Given the description of an element on the screen output the (x, y) to click on. 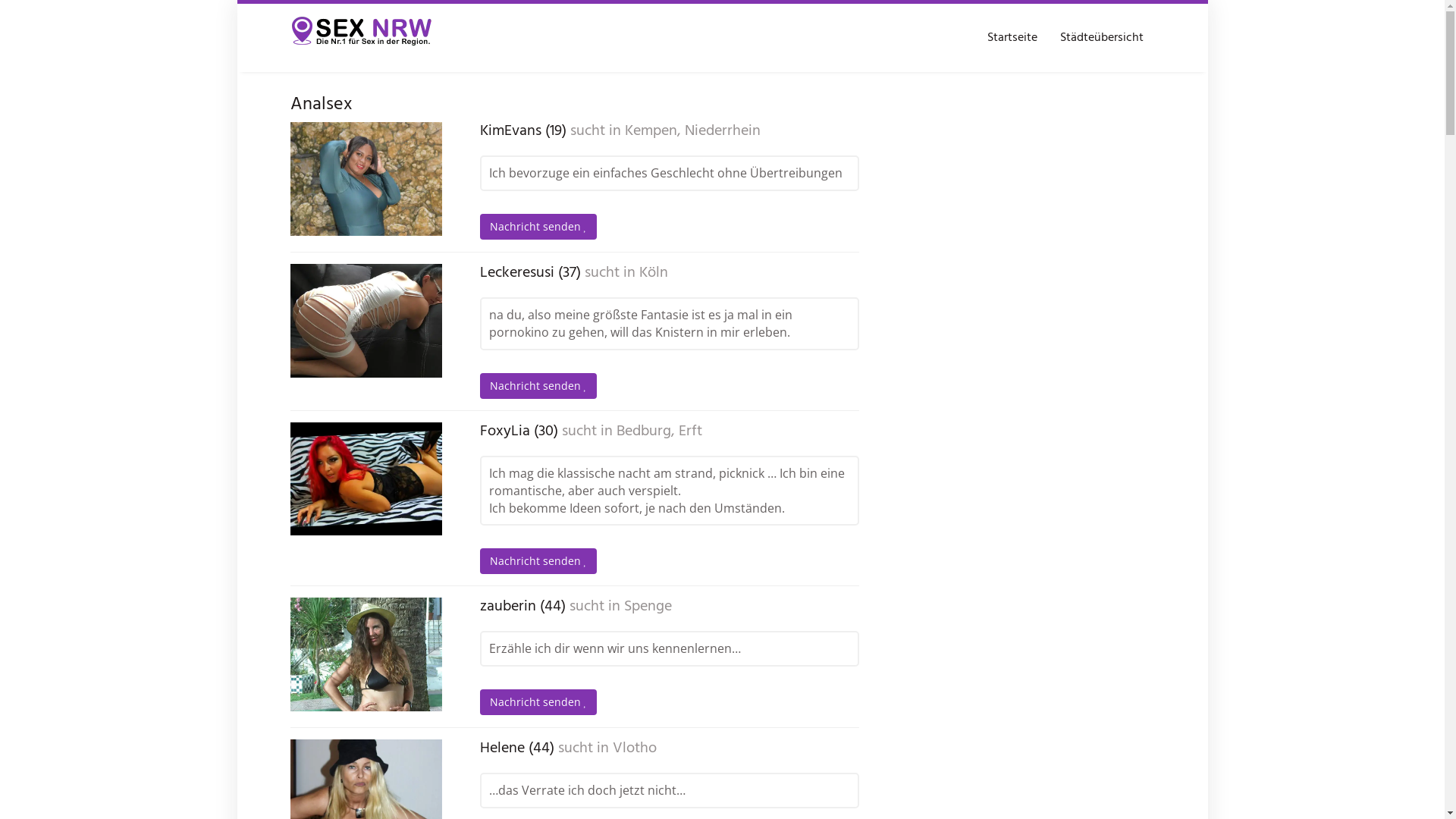
Sex NRW Element type: hover (362, 37)
Spenge Element type: text (647, 606)
FoxyLia (30) Element type: text (518, 431)
Nachricht senden Element type: text (537, 561)
zauberin jetzt kennenlernen! Element type: hover (365, 654)
zauberin (44) Element type: text (521, 606)
Nachricht senden Element type: text (537, 226)
KimEvans (19) Element type: text (522, 131)
Startseite Element type: text (1011, 37)
Vlotho Element type: text (634, 748)
Nachricht senden Element type: text (537, 702)
FoxyLia jetzt kennenlernen! Element type: hover (365, 478)
KimEvans jetzt kennenlernen! Element type: hover (365, 178)
Leckeresusi jetzt kennenlernen! Element type: hover (365, 320)
Kempen, Niederrhein Element type: text (692, 131)
Bedburg, Erft Element type: text (658, 431)
Leckeresusi (37) Element type: text (529, 272)
Helene (44) Element type: text (516, 748)
Nachricht senden Element type: text (537, 385)
